Given the description of an element on the screen output the (x, y) to click on. 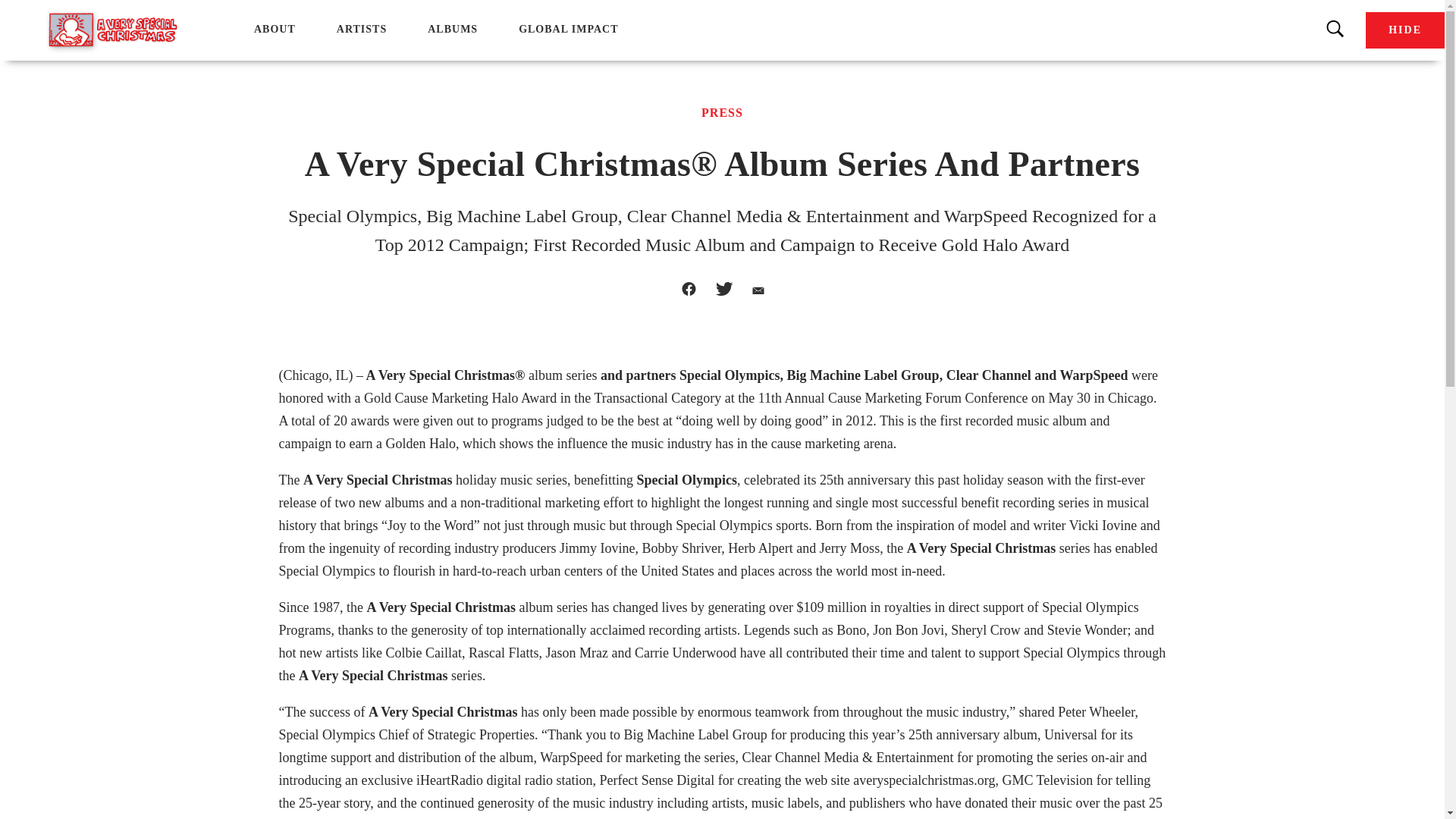
ALBUMS (452, 29)
PRESS (721, 112)
ARTISTS (361, 29)
GLOBAL IMPACT (567, 29)
ABOUT (274, 29)
